Given the description of an element on the screen output the (x, y) to click on. 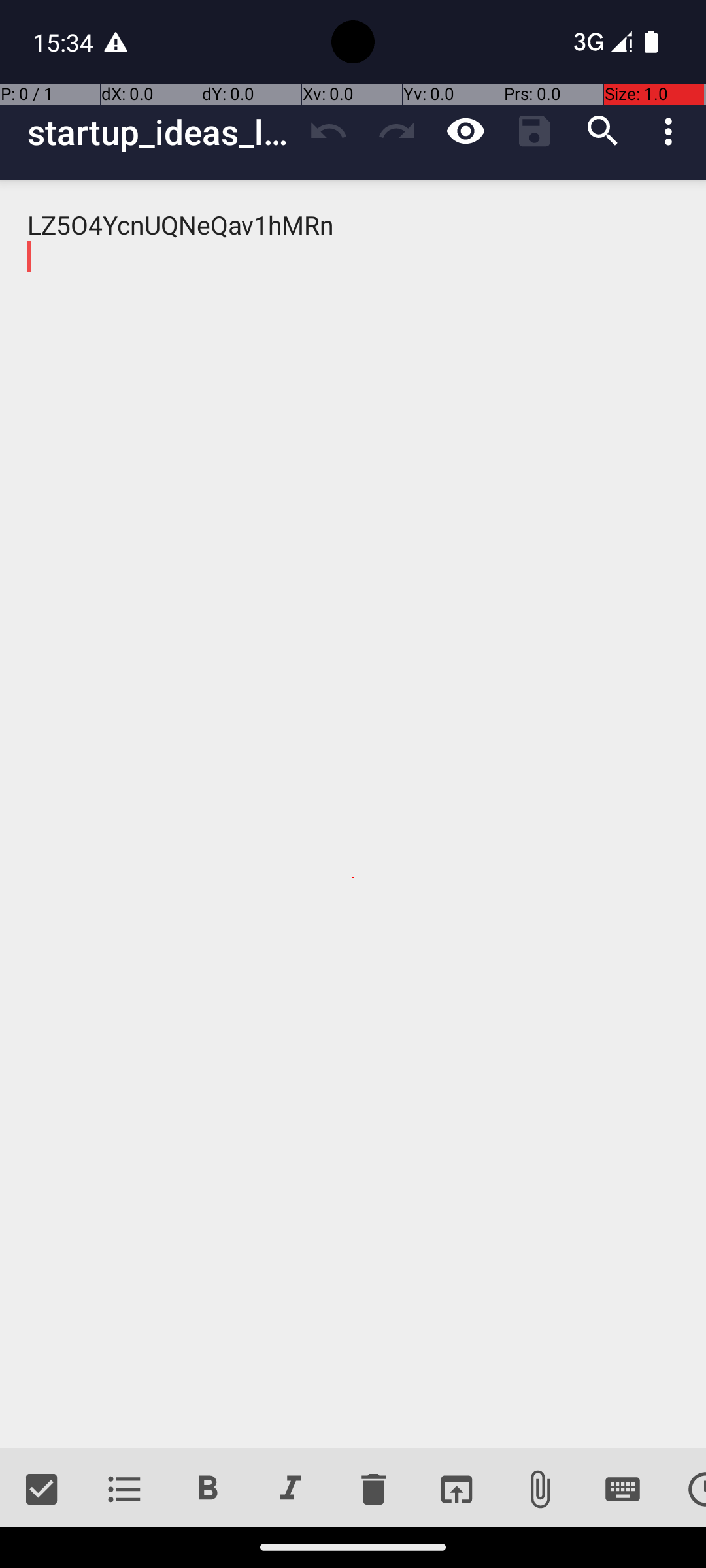
startup_ideas_launch_edited Element type: android.widget.TextView (160, 131)
LZ5O4YcnUQNeQav1hMRn
 Element type: android.widget.EditText (353, 813)
Check list Element type: android.widget.ImageView (41, 1488)
Unordered list Element type: android.widget.ImageView (124, 1488)
Bold Element type: android.widget.ImageView (207, 1488)
Italic Element type: android.widget.ImageView (290, 1488)
Date and time Element type: android.widget.ImageView (685, 1488)
